Given the description of an element on the screen output the (x, y) to click on. 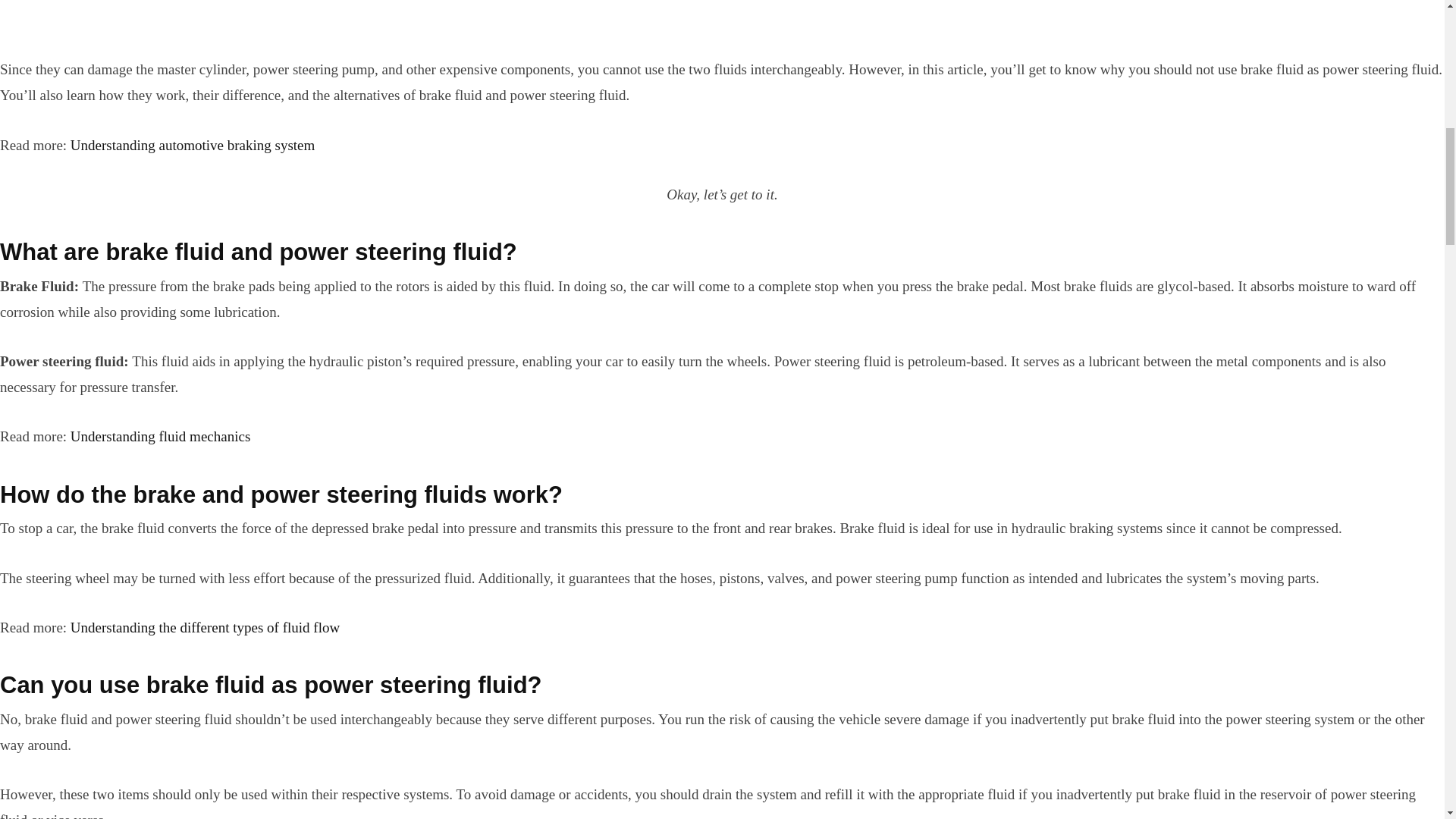
Understanding fluid mechanics (159, 436)
Understanding the different types of fluid flow (204, 627)
Understanding automotive braking system (191, 145)
